Given the description of an element on the screen output the (x, y) to click on. 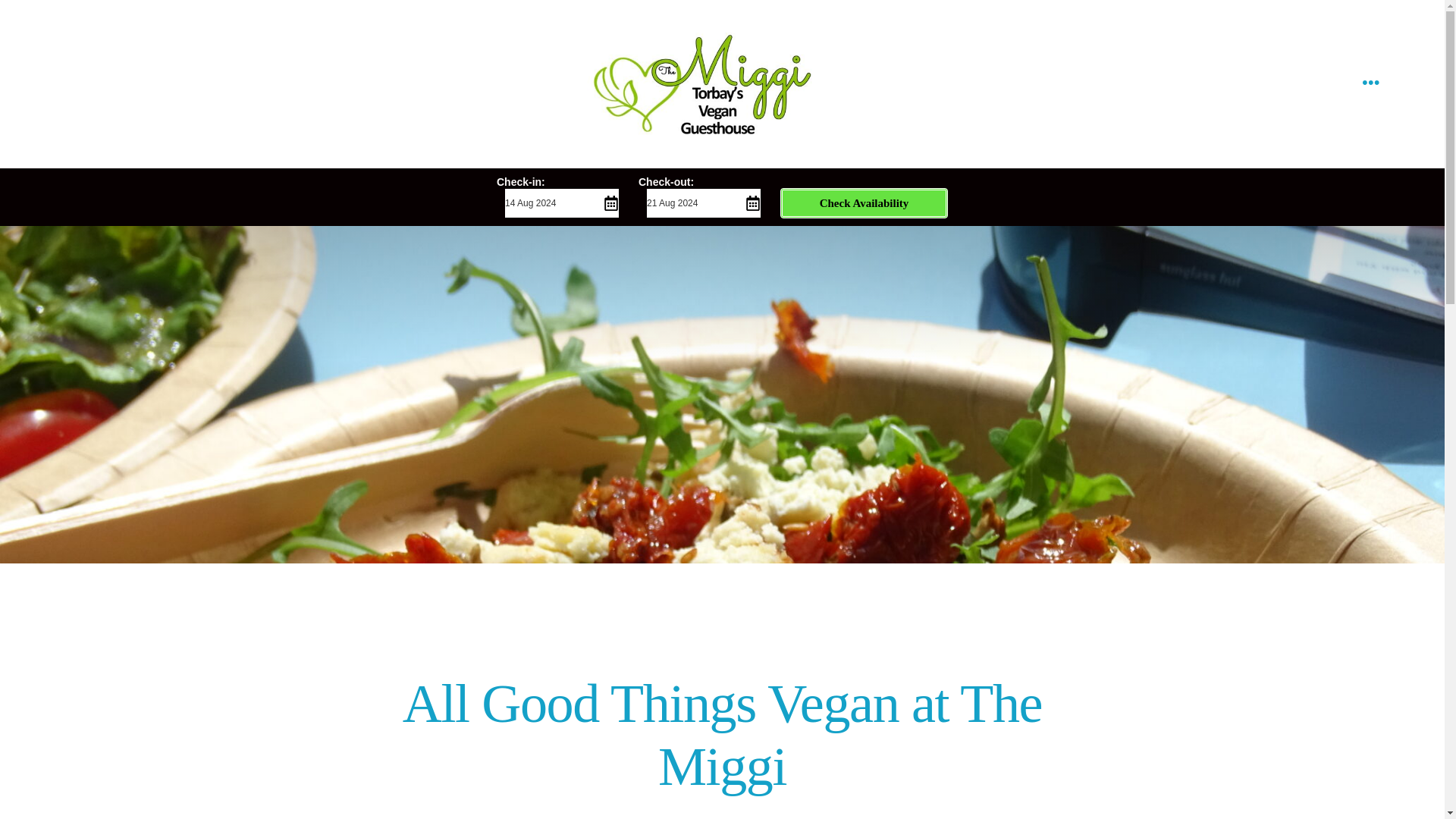
Menu (1371, 83)
14 Aug 2024 (559, 203)
Check Availability (863, 203)
21 Aug 2024 (702, 203)
